Given the description of an element on the screen output the (x, y) to click on. 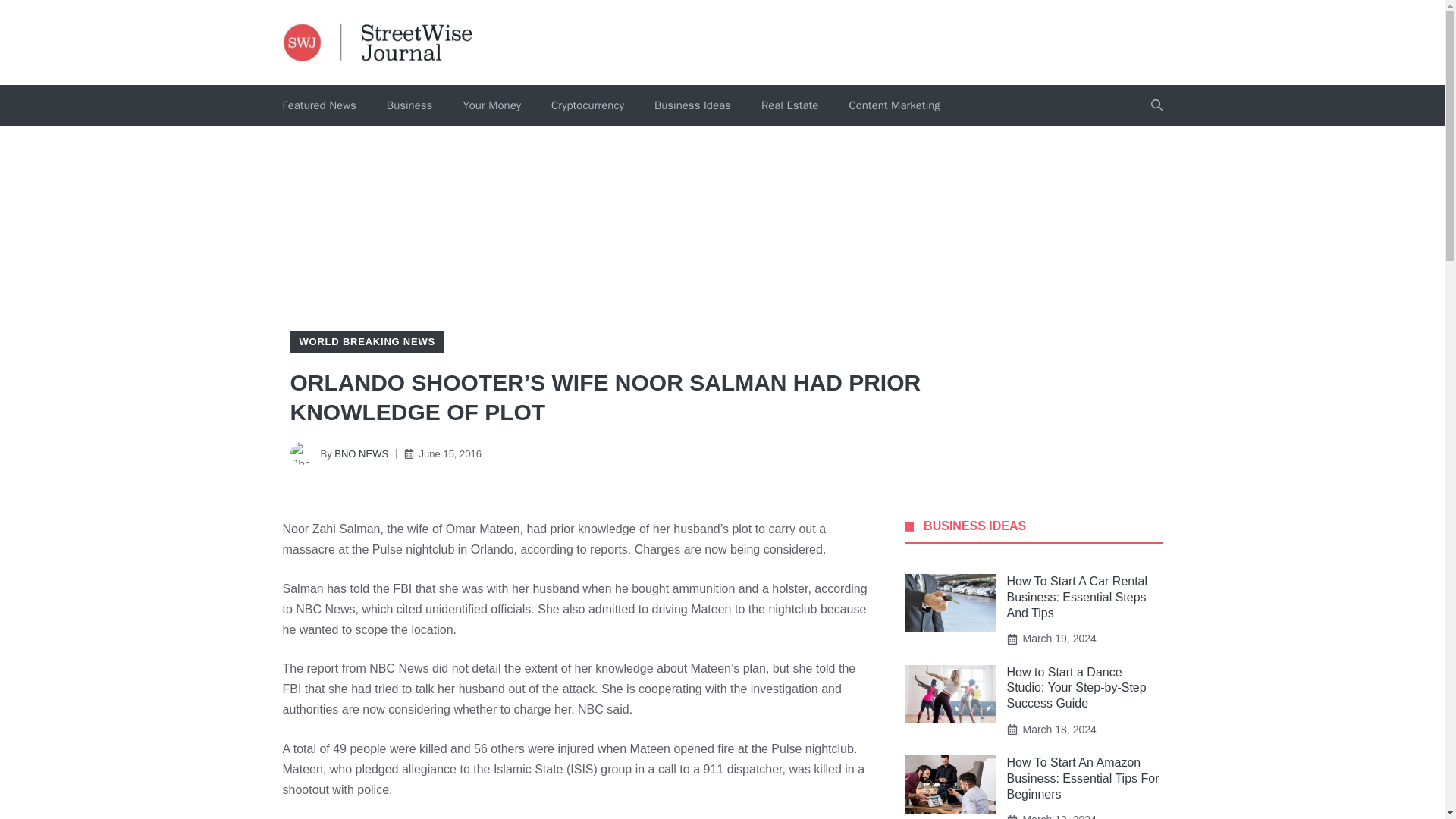
How To Start A Car Rental Business: Essential Steps And Tips (1077, 596)
Featured News (318, 105)
Cryptocurrency (587, 105)
Your Money (490, 105)
How to Start a Dance Studio: Your Step-by-Step Success Guide (1077, 687)
Business Ideas (692, 105)
Content Marketing (893, 105)
WORLD BREAKING NEWS (365, 341)
Business (409, 105)
Real Estate (788, 105)
BNO NEWS (361, 453)
